Given the description of an element on the screen output the (x, y) to click on. 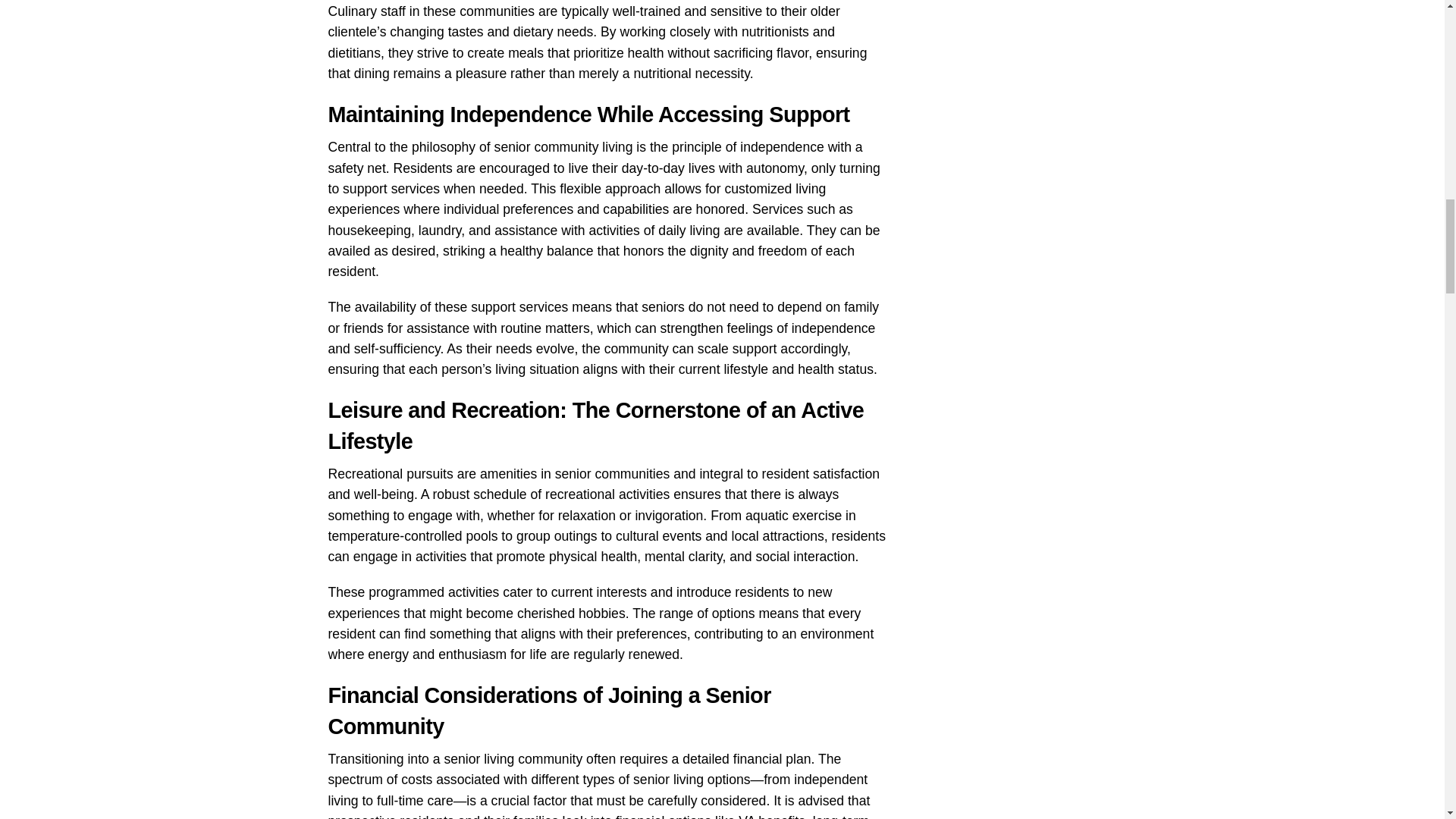
VA benefits (771, 816)
